Given the description of an element on the screen output the (x, y) to click on. 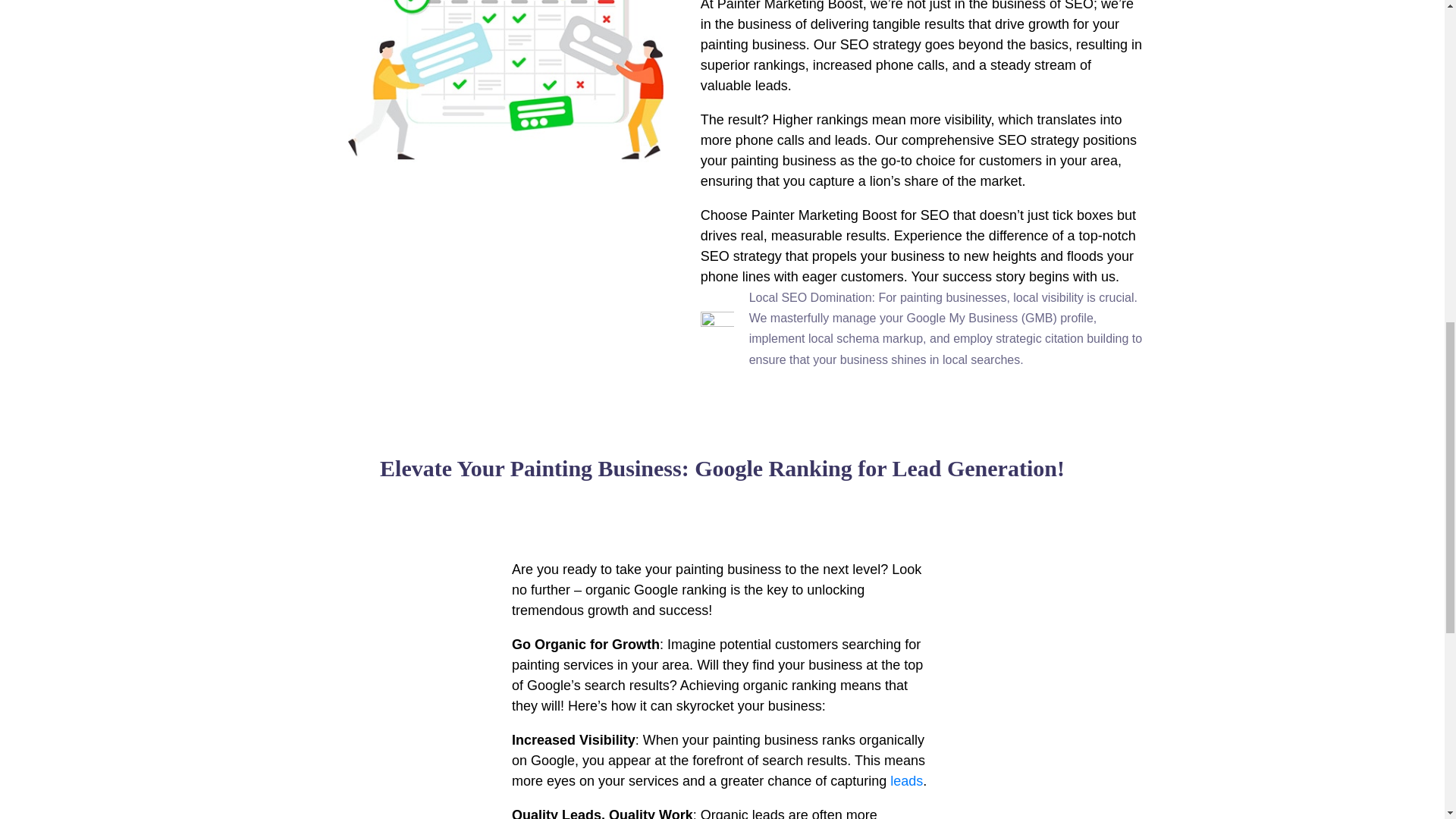
leads (906, 780)
leads (906, 780)
icon-14 (716, 328)
